Given the description of an element on the screen output the (x, y) to click on. 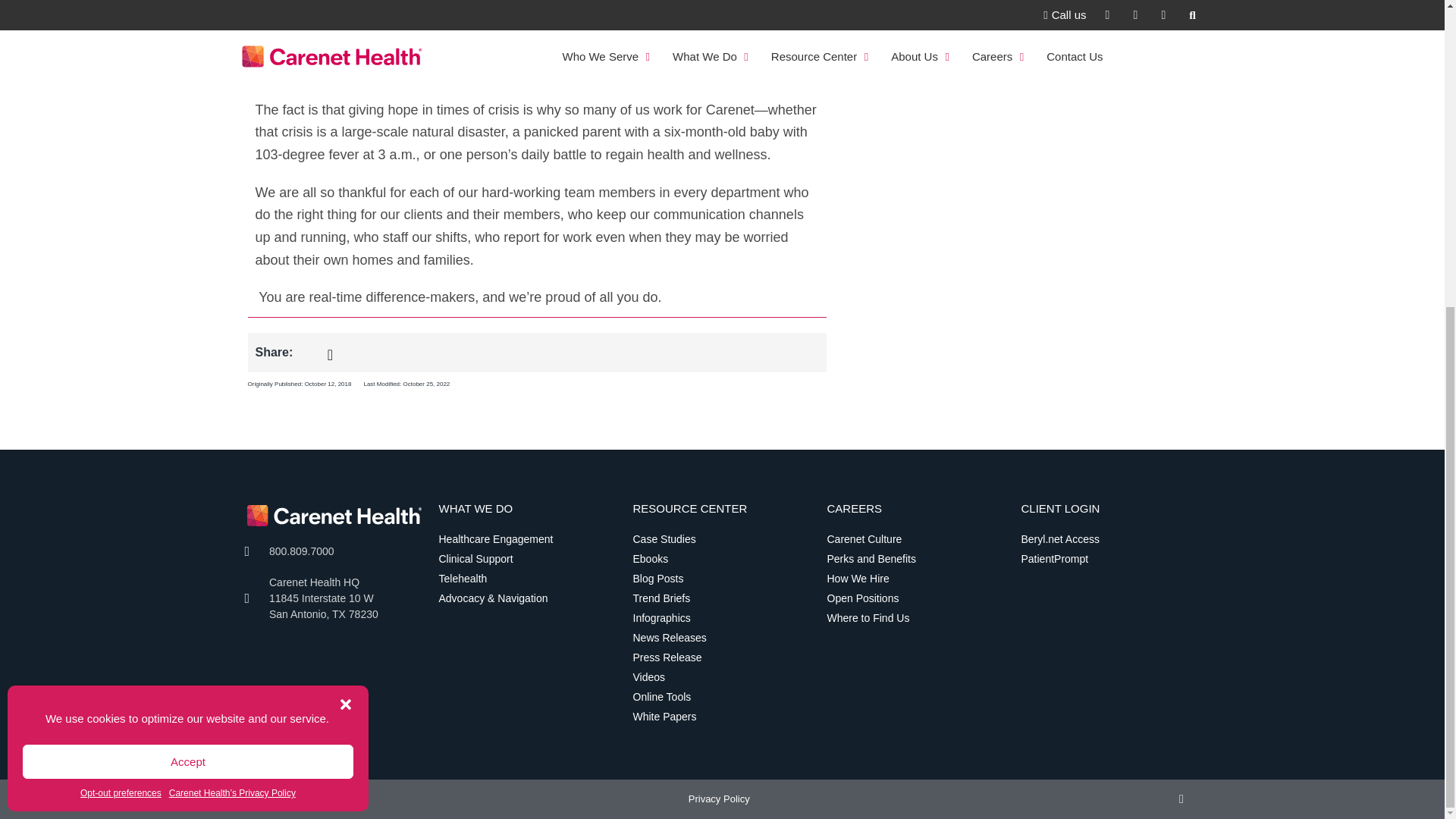
Opt-out preferences (120, 308)
footerlogo2 (333, 514)
Accept (188, 277)
